Given the description of an element on the screen output the (x, y) to click on. 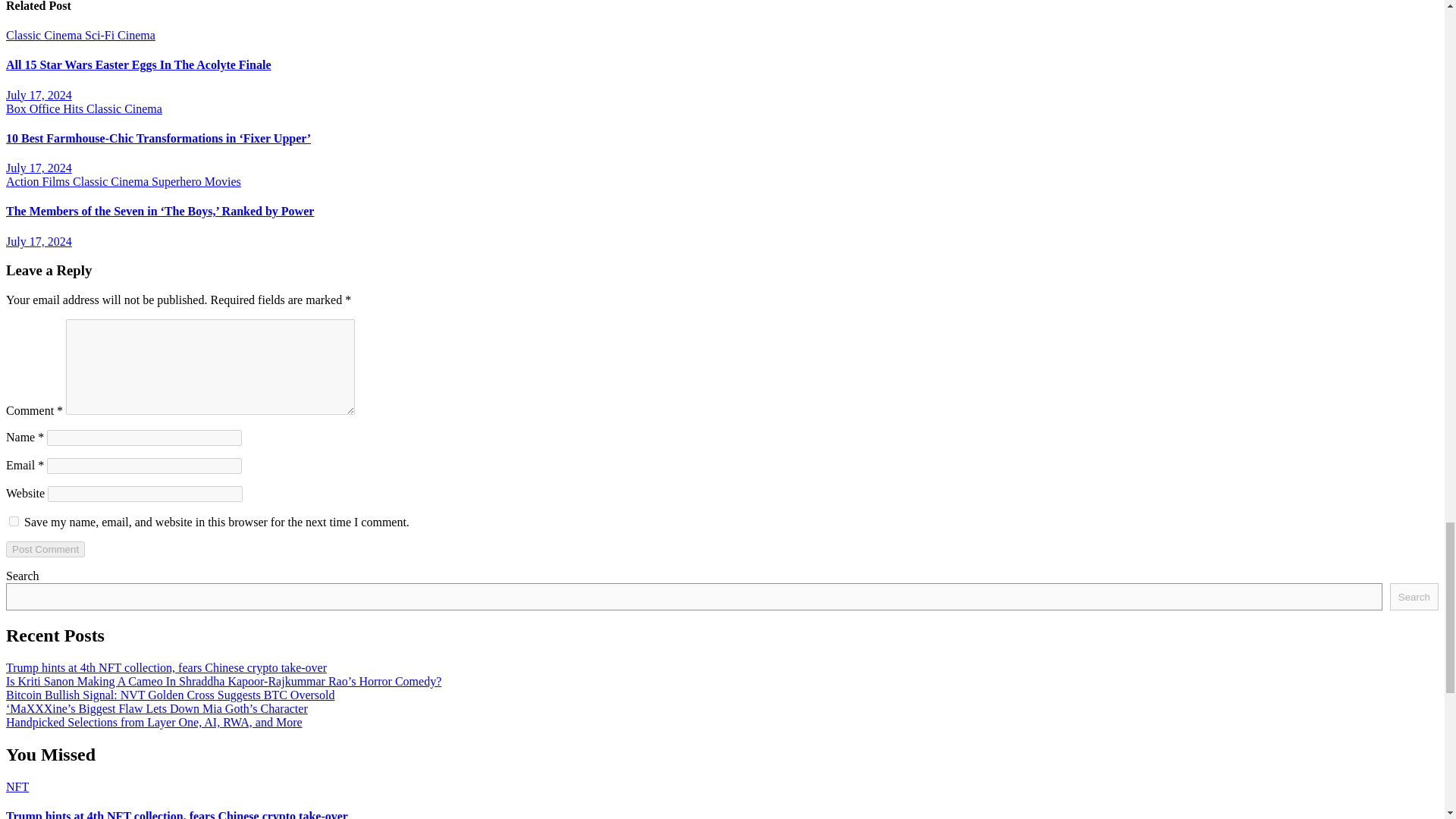
yes (13, 521)
Post Comment (44, 549)
